Given the description of an element on the screen output the (x, y) to click on. 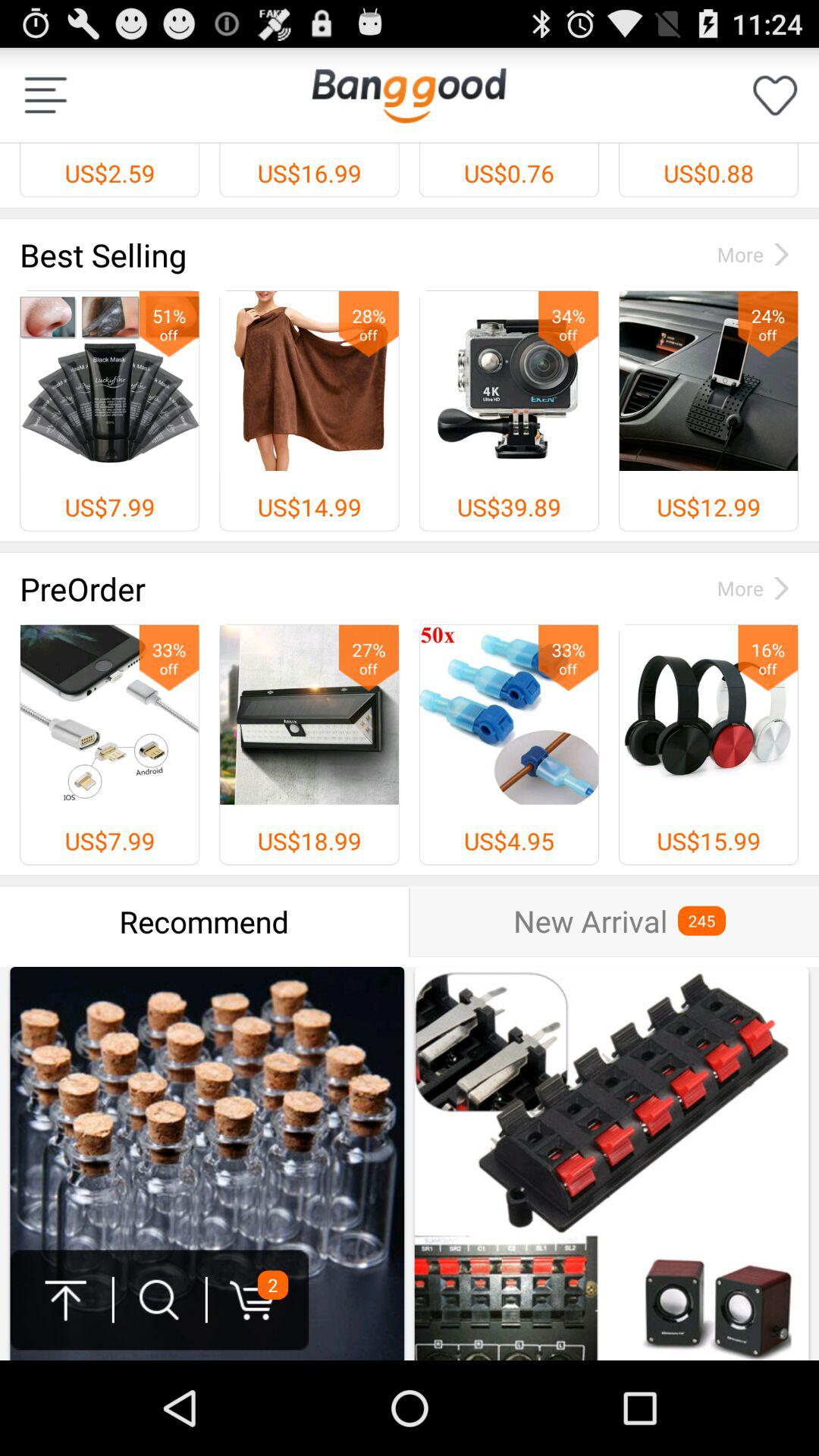
launch the item next to us$0.88 icon (409, 95)
